Given the description of an element on the screen output the (x, y) to click on. 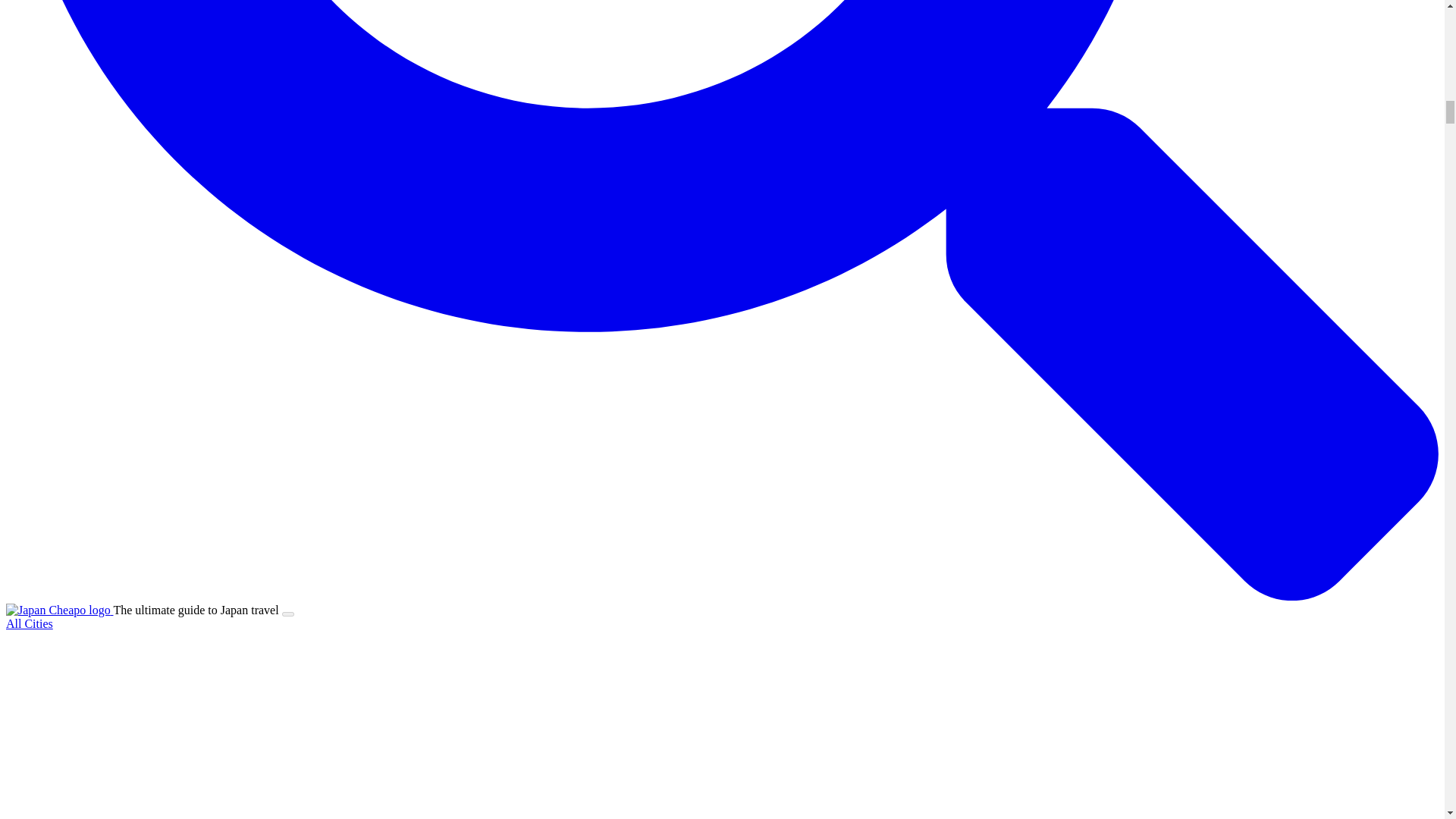
Japan Cheapo Homepage (59, 609)
Japan Cheapo (57, 610)
